Given the description of an element on the screen output the (x, y) to click on. 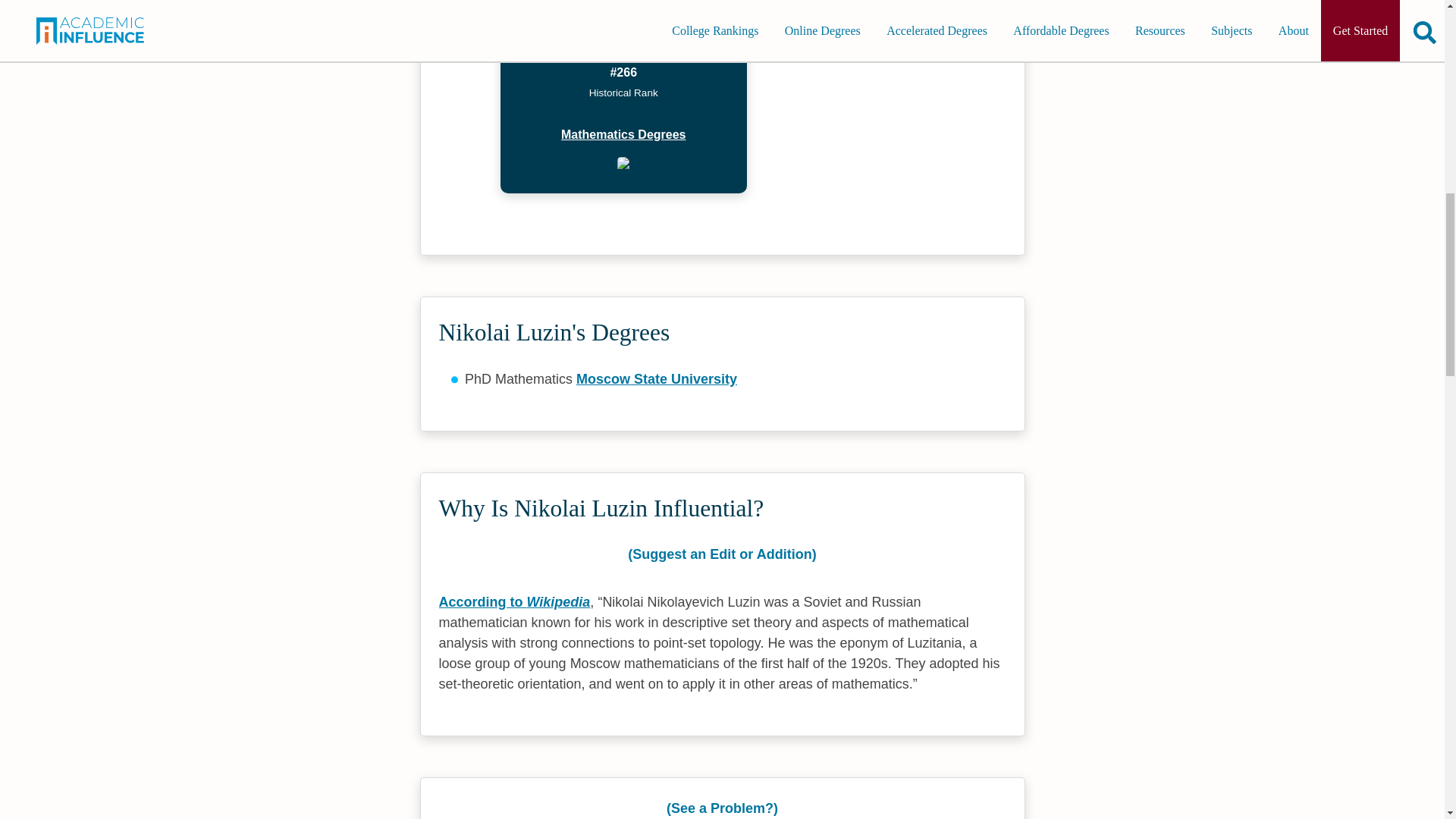
According to Wikipedia (513, 601)
Moscow State University (656, 378)
Mathematics Degrees (622, 134)
